Given the description of an element on the screen output the (x, y) to click on. 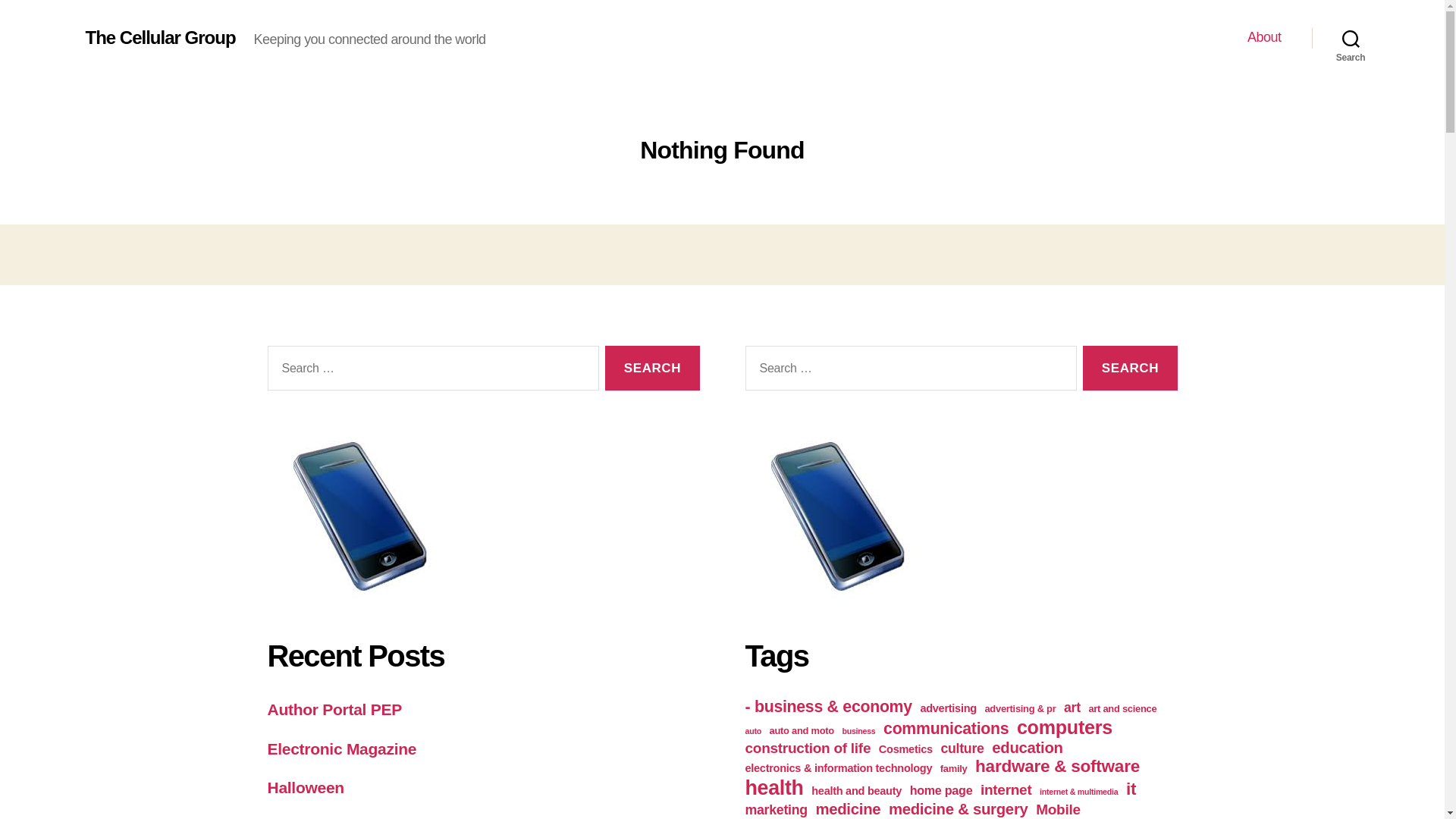
Search (651, 367)
Search (1129, 367)
Search (651, 367)
Author Portal PEP (333, 709)
The Cellular Group (159, 37)
Search (651, 367)
Search (1129, 367)
Search (1350, 37)
Halloween (304, 787)
About (1264, 37)
Electronic Magazine (341, 748)
